Given the description of an element on the screen output the (x, y) to click on. 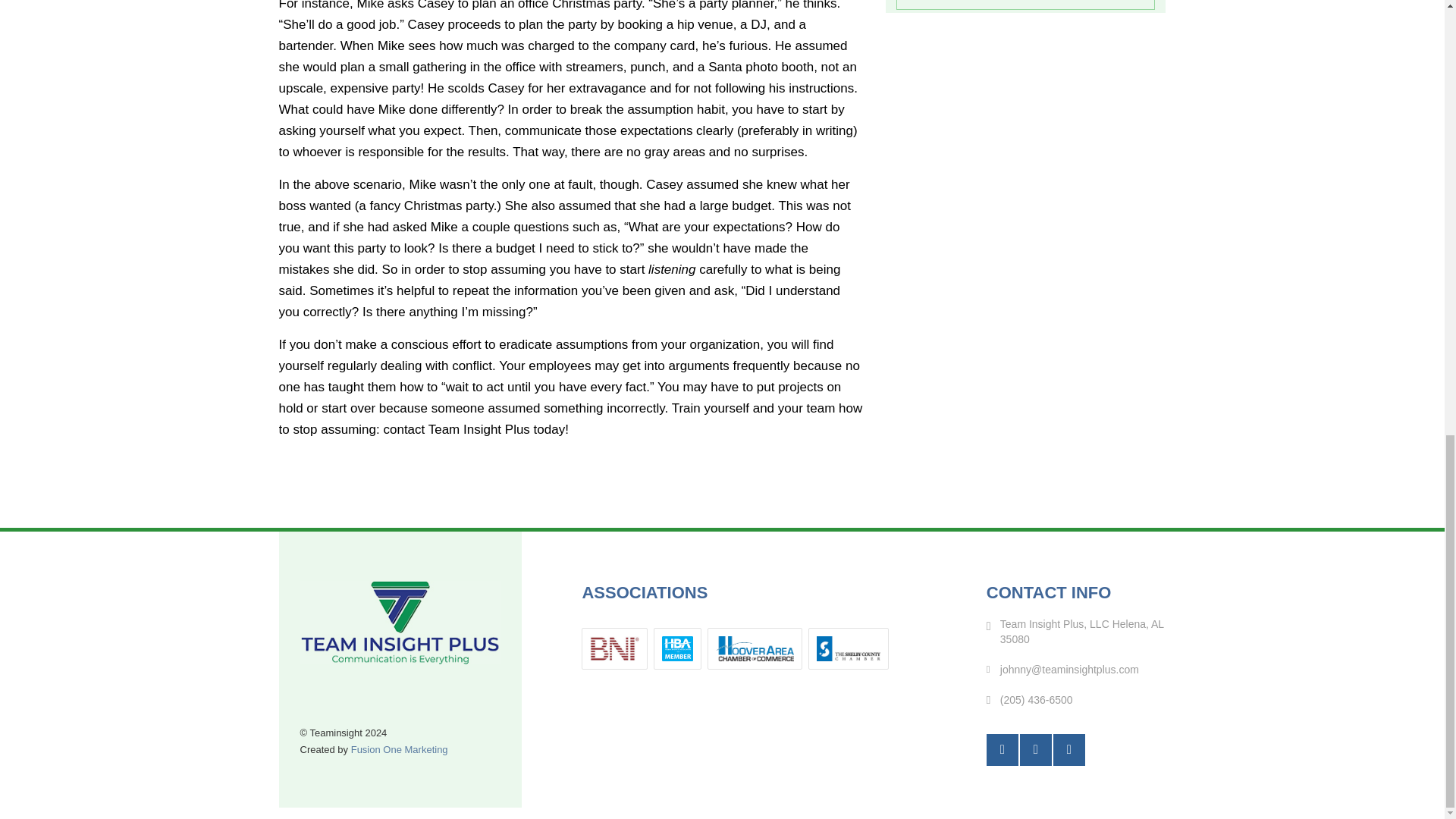
contact (403, 429)
Fusion One Marketing (399, 749)
Teaminsight (399, 621)
